Given the description of an element on the screen output the (x, y) to click on. 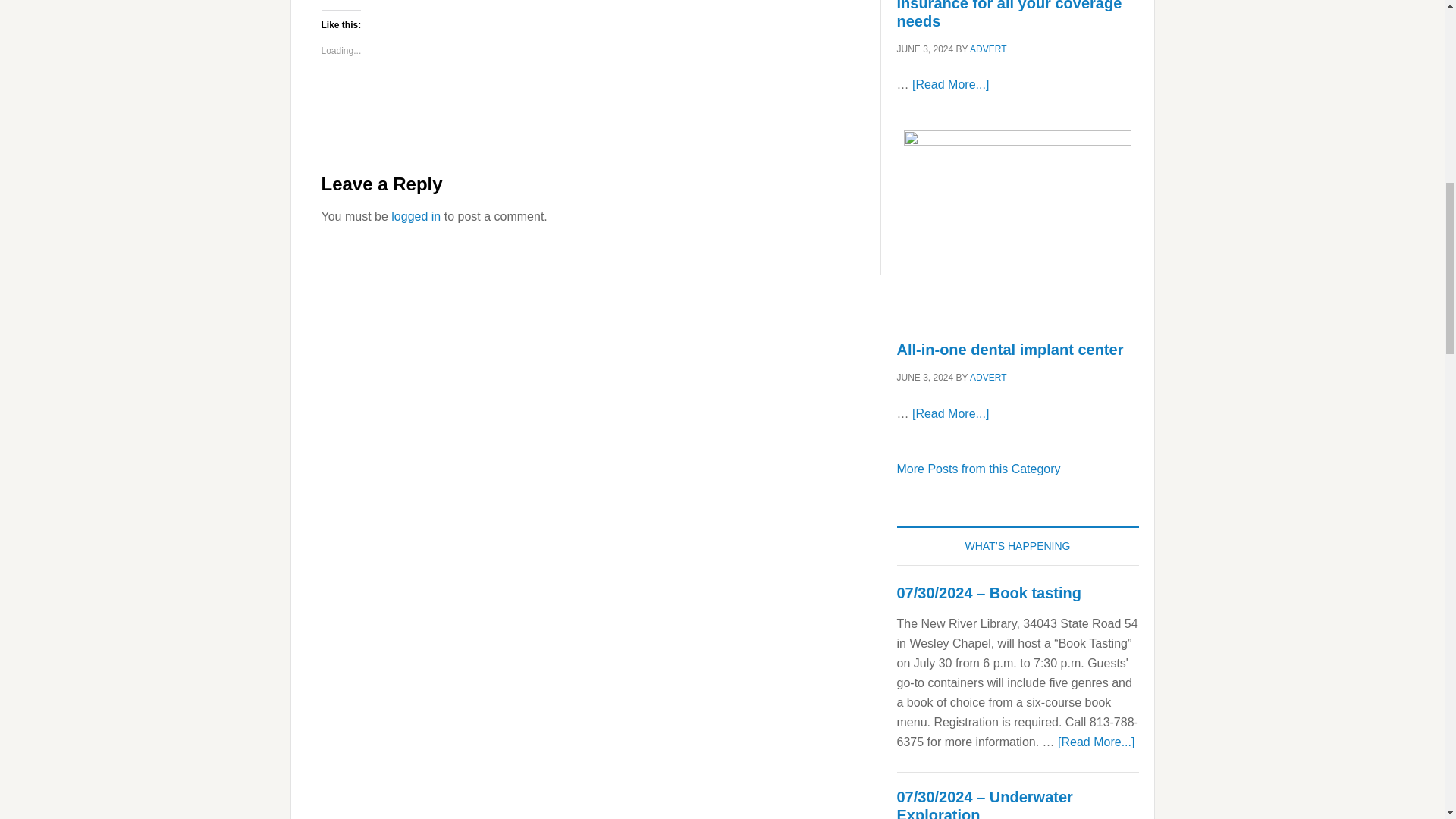
Sponsored Content (977, 468)
